Given the description of an element on the screen output the (x, y) to click on. 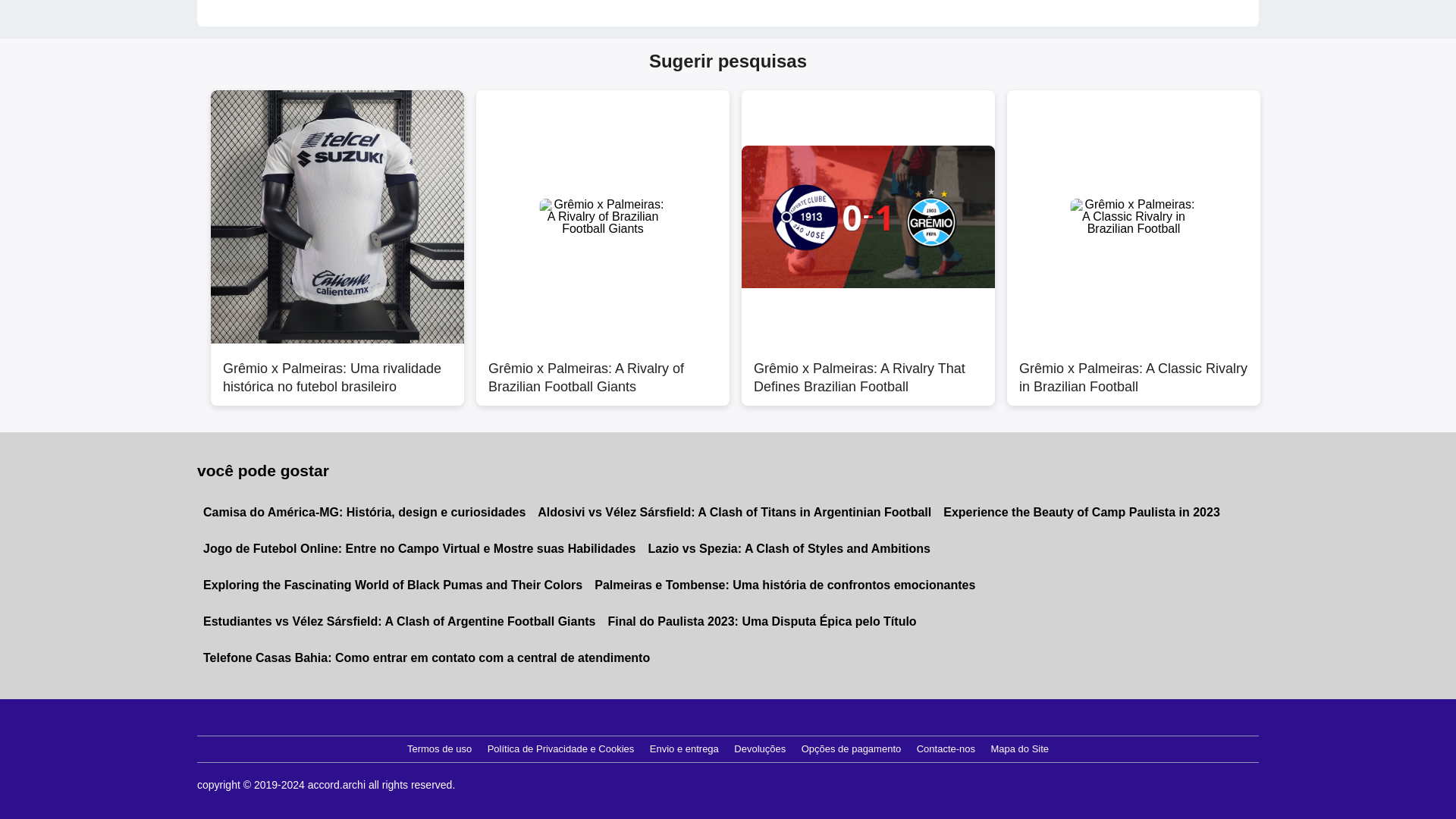
Experience the Beauty of Camp Paulista in 2023 (1081, 512)
Mapa do Site (1019, 749)
Termos de uso (439, 749)
Contacte-nos (946, 749)
Lazio vs Spezia: A Clash of Styles and Ambitions (789, 548)
Envio e entrega (684, 749)
